Given the description of an element on the screen output the (x, y) to click on. 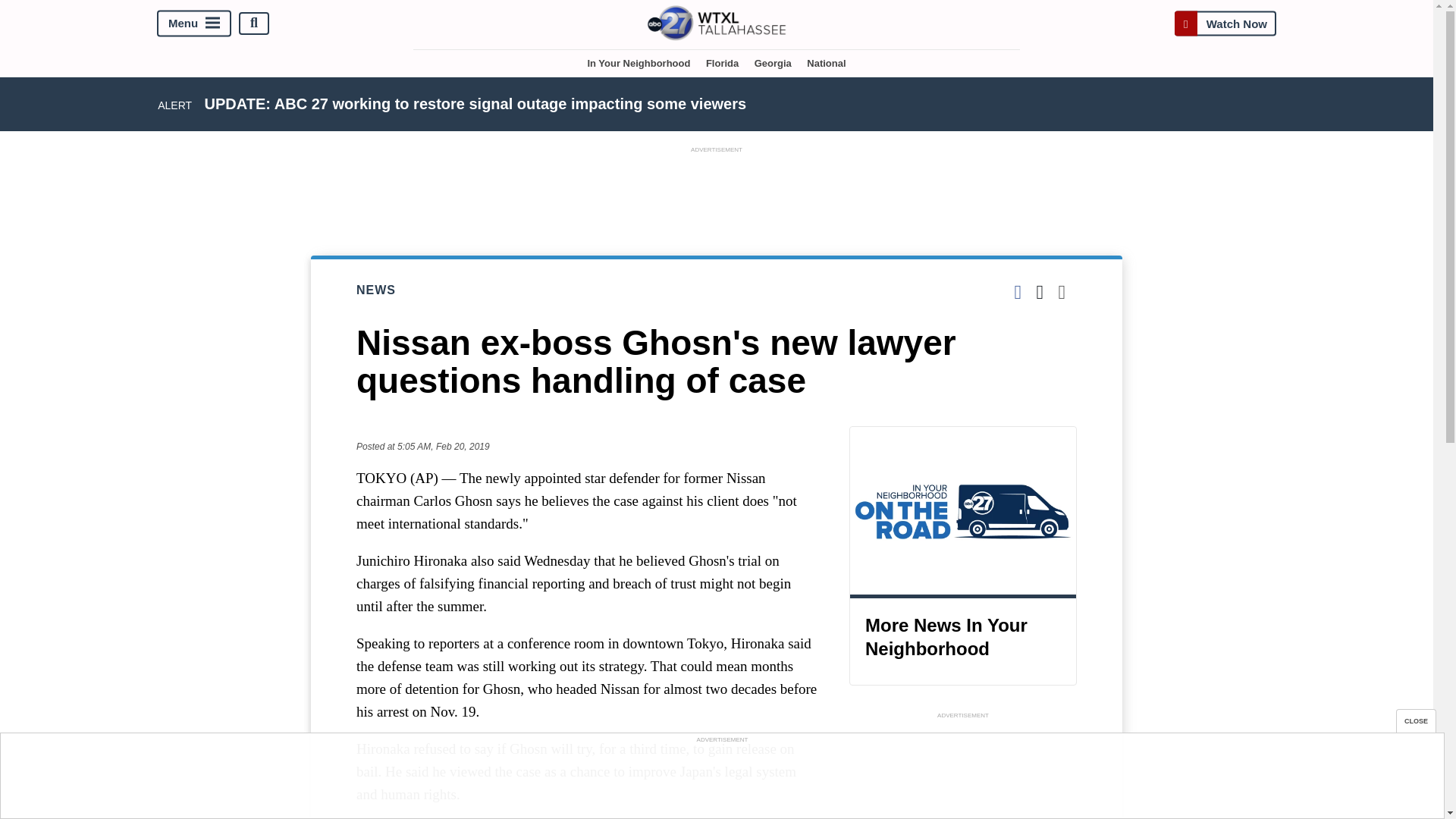
3rd party ad content (721, 780)
Menu (194, 22)
Watch Now (1224, 22)
3rd party ad content (716, 191)
3rd party ad content (962, 770)
